Given the description of an element on the screen output the (x, y) to click on. 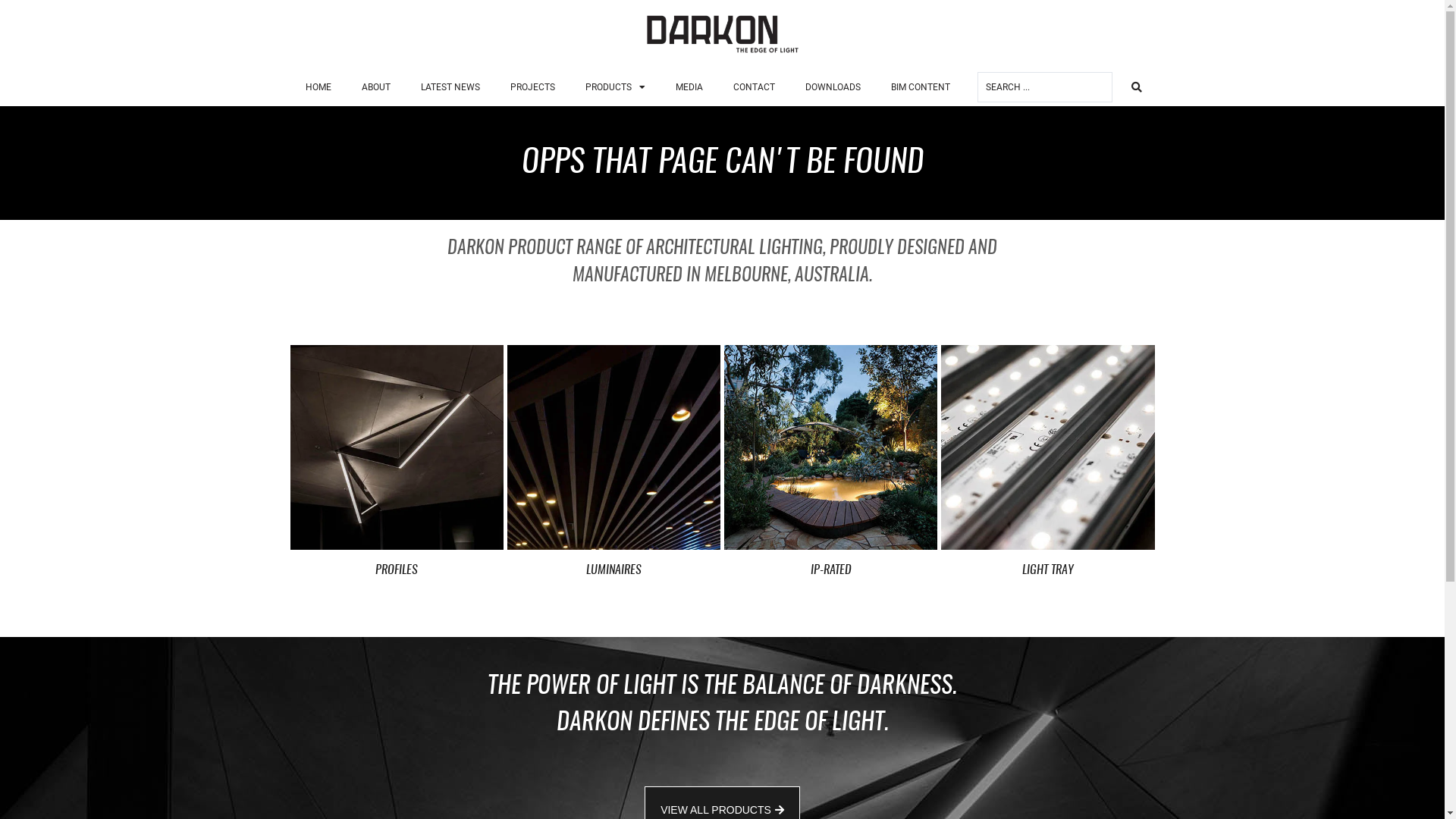
PROJECTS Element type: text (531, 87)
PRODUCTS Element type: text (615, 87)
BIM CONTENT Element type: text (919, 87)
CONTACT Element type: text (753, 87)
LATEST NEWS Element type: text (449, 87)
MEDIA Element type: text (688, 87)
ABOUT Element type: text (374, 87)
DOWNLOADS Element type: text (832, 87)
HOME Element type: text (317, 87)
